Given the description of an element on the screen output the (x, y) to click on. 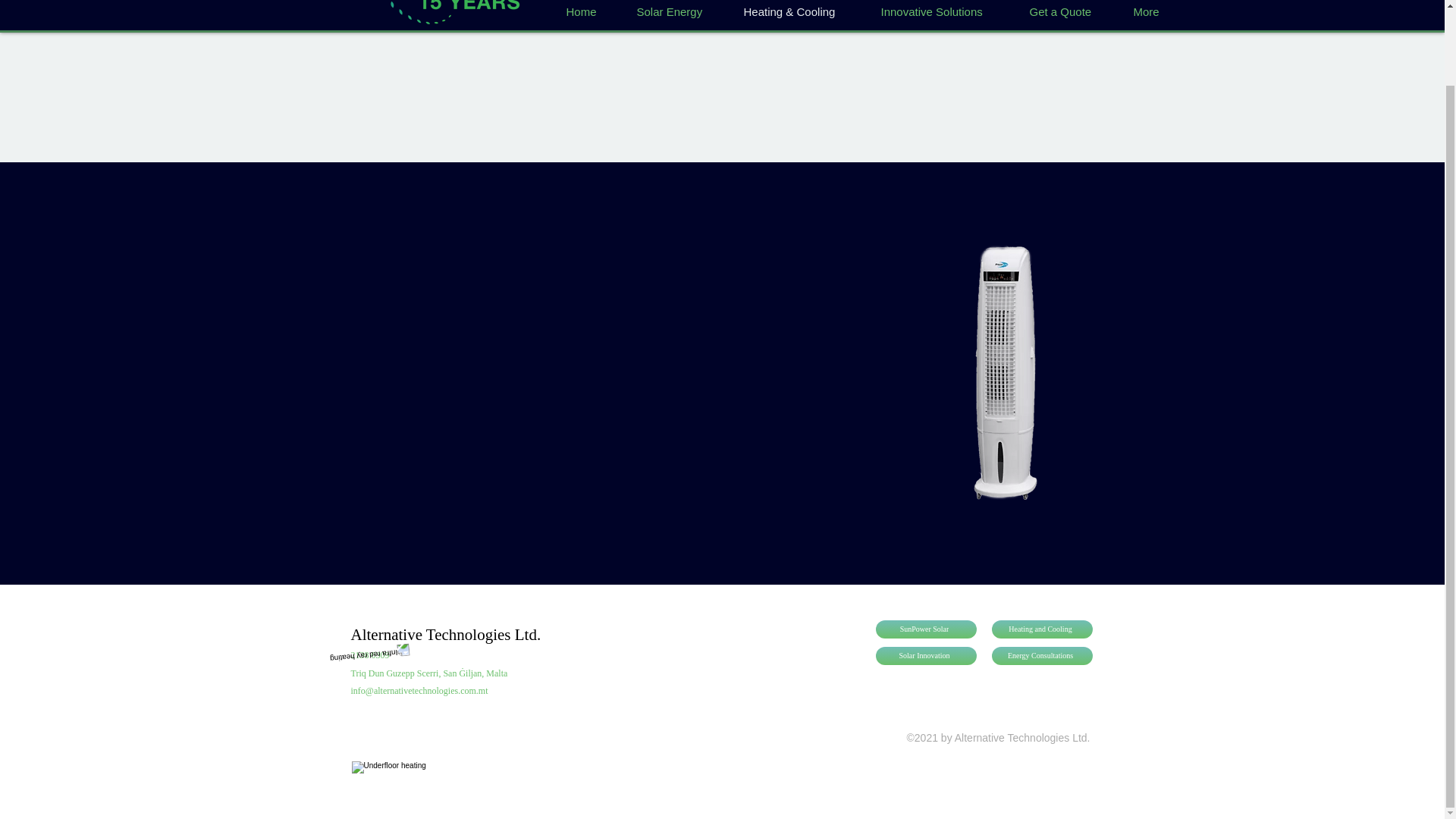
Innovative Solutions (941, 9)
Alternative Technologies Ltd. (445, 634)
Alt Tech - Logos-01.png (444, 12)
Get a Quote (1067, 9)
SunPower Solar (925, 628)
Home (587, 9)
Solar Energy (676, 9)
Solar Innovation (925, 656)
Heating and Cooling (1042, 628)
Energy Consultations (1042, 656)
